Given the description of an element on the screen output the (x, y) to click on. 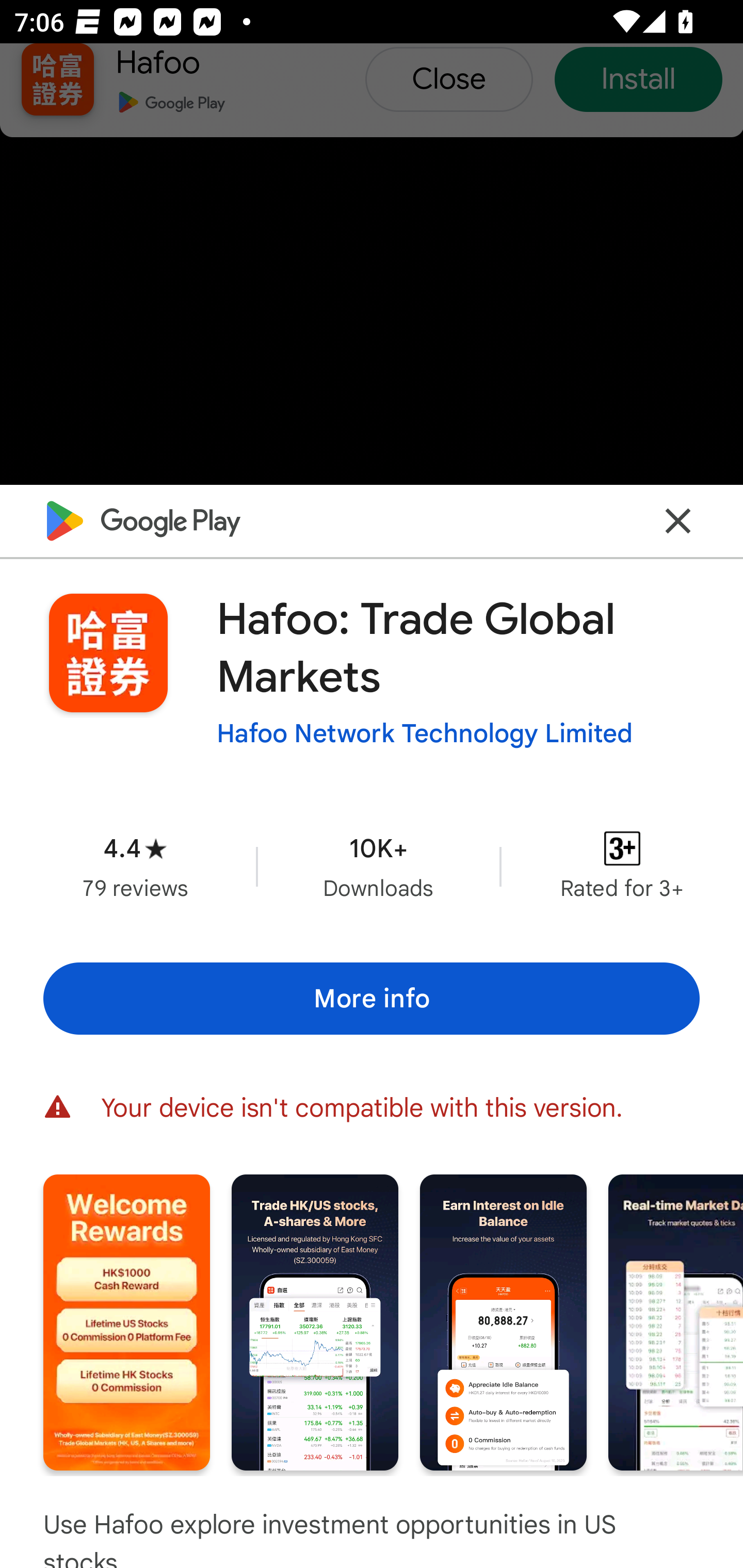
Close (677, 520)
Hafoo Network Technology Limited (424, 732)
More info (371, 998)
Screenshot "1" of "8" (126, 1322)
Screenshot "2" of "8" (314, 1322)
Screenshot "3" of "8" (502, 1322)
Screenshot "4" of "8" (675, 1322)
